Given the description of an element on the screen output the (x, y) to click on. 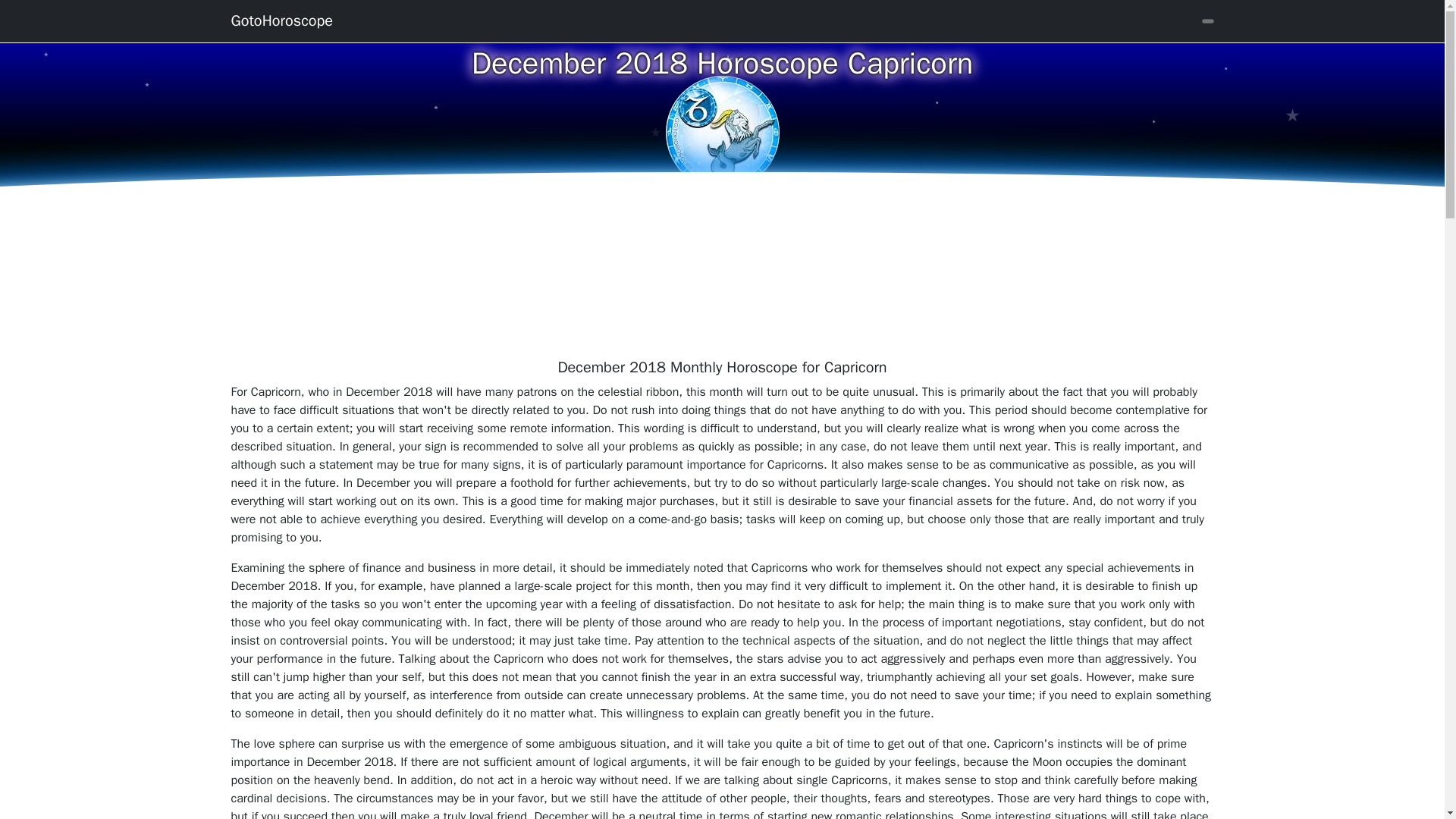
GotoHoroscope (281, 20)
Goto Horoscope Home (281, 20)
